Given the description of an element on the screen output the (x, y) to click on. 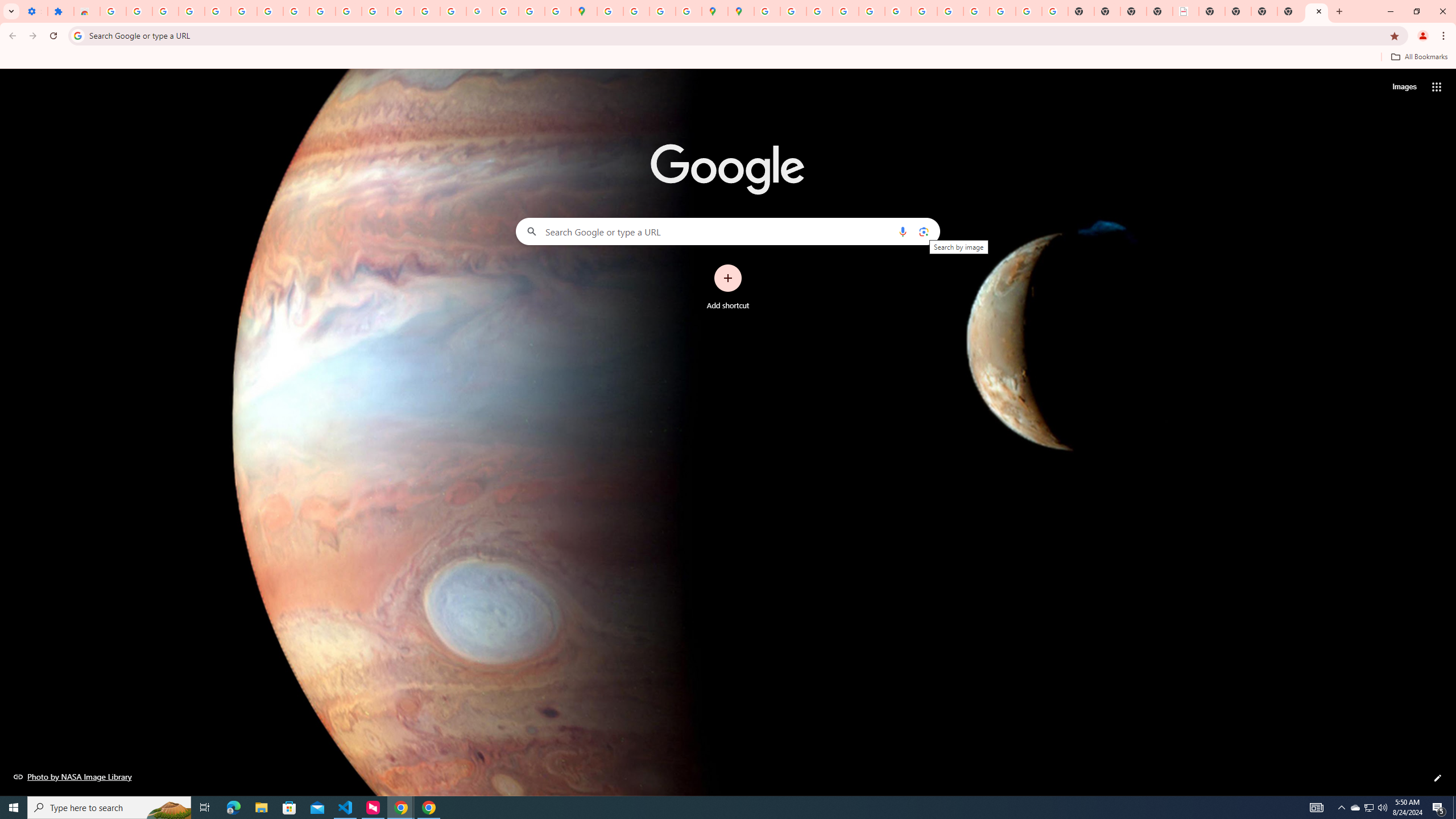
LAAD Defence & Security 2025 | BAE Systems (1185, 11)
Safety in Our Products - Google Safety Center (689, 11)
Search Google or type a URL (727, 230)
